Given the description of an element on the screen output the (x, y) to click on. 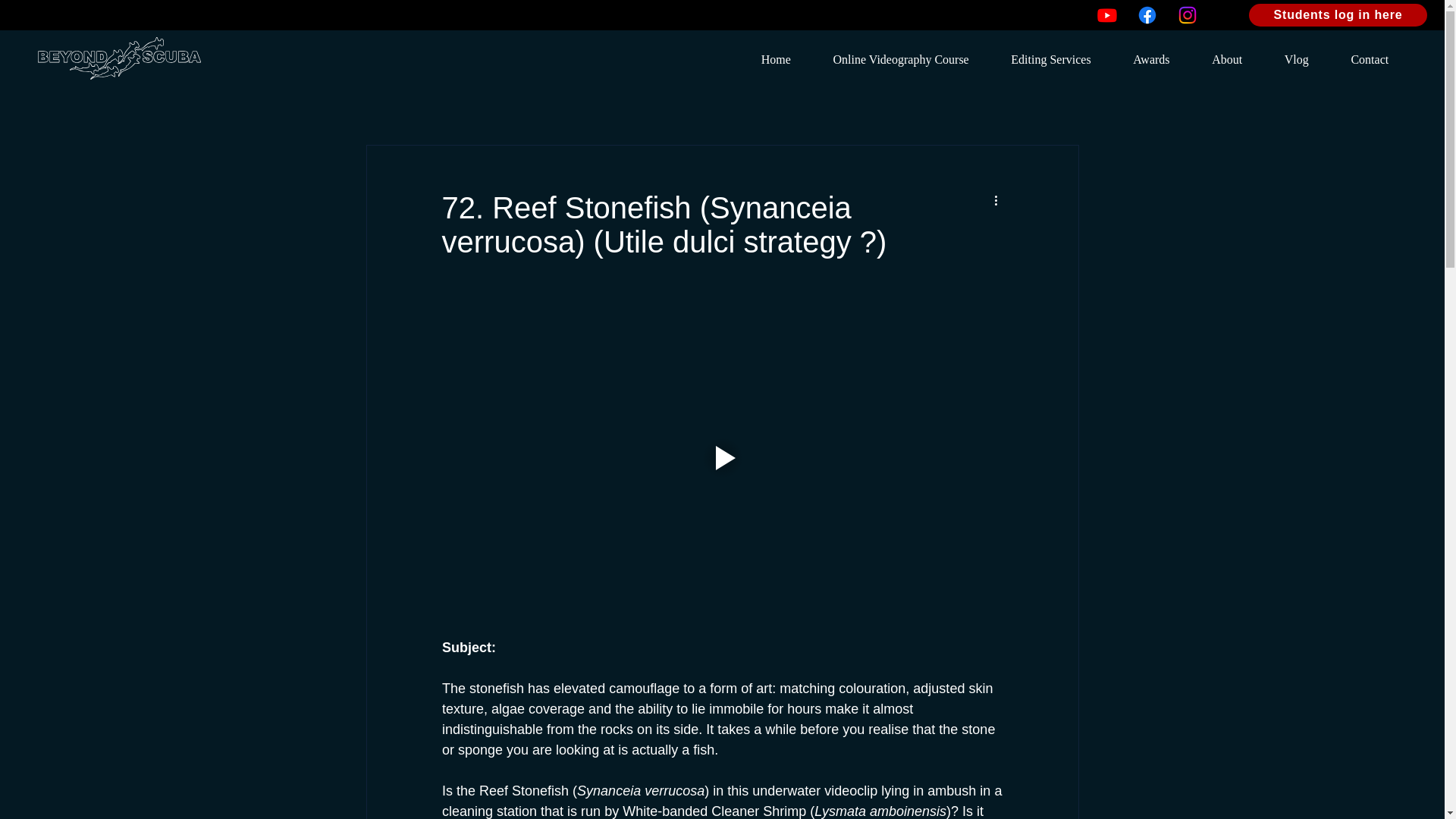
About (1226, 59)
Awards (1151, 59)
Home (775, 59)
Vlog (1296, 59)
Online Videography Course (901, 59)
Editing Services (1050, 59)
Contact (1369, 59)
Students log in here (1337, 15)
